Given the description of an element on the screen output the (x, y) to click on. 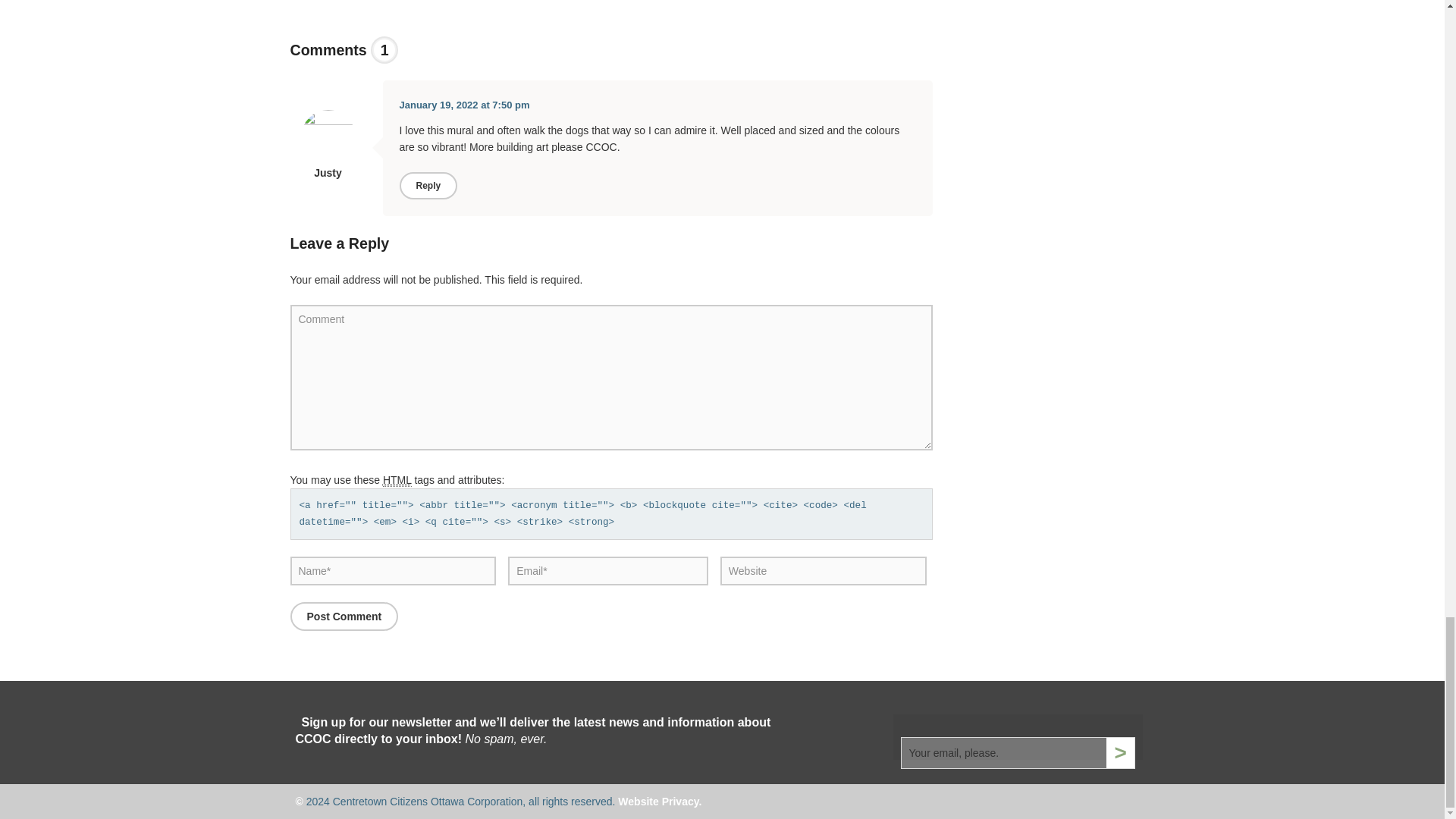
mc-submit (1120, 753)
HyperText Markup Language (397, 480)
Post Comment (343, 615)
mc-email (1004, 753)
